Given the description of an element on the screen output the (x, y) to click on. 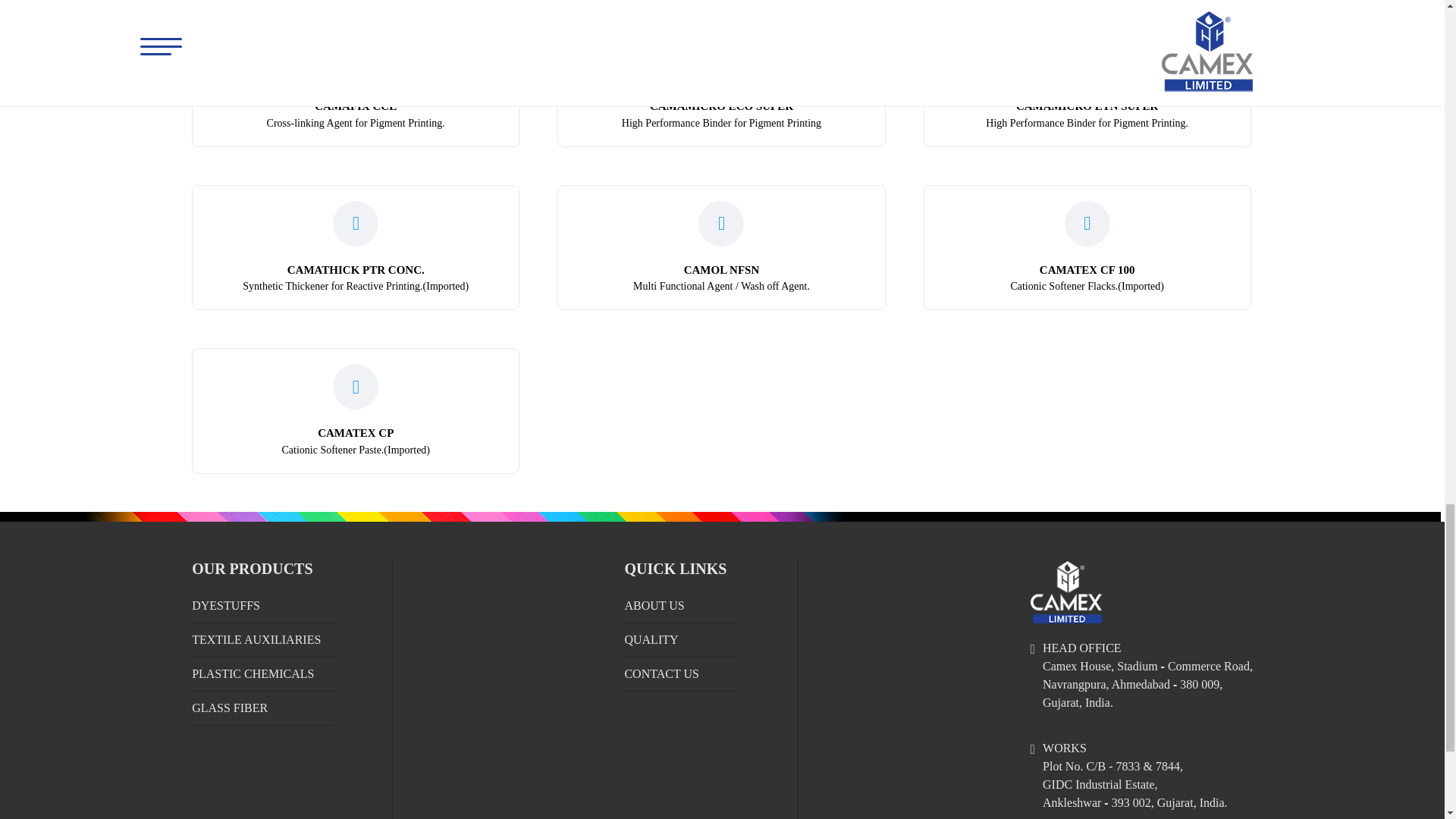
ABOUT US (681, 605)
DYESTUFFS (263, 605)
TEXTILE AUXILIARIES (263, 640)
PLASTIC CHEMICALS (355, 83)
GLASS FIBER (263, 674)
